Given the description of an element on the screen output the (x, y) to click on. 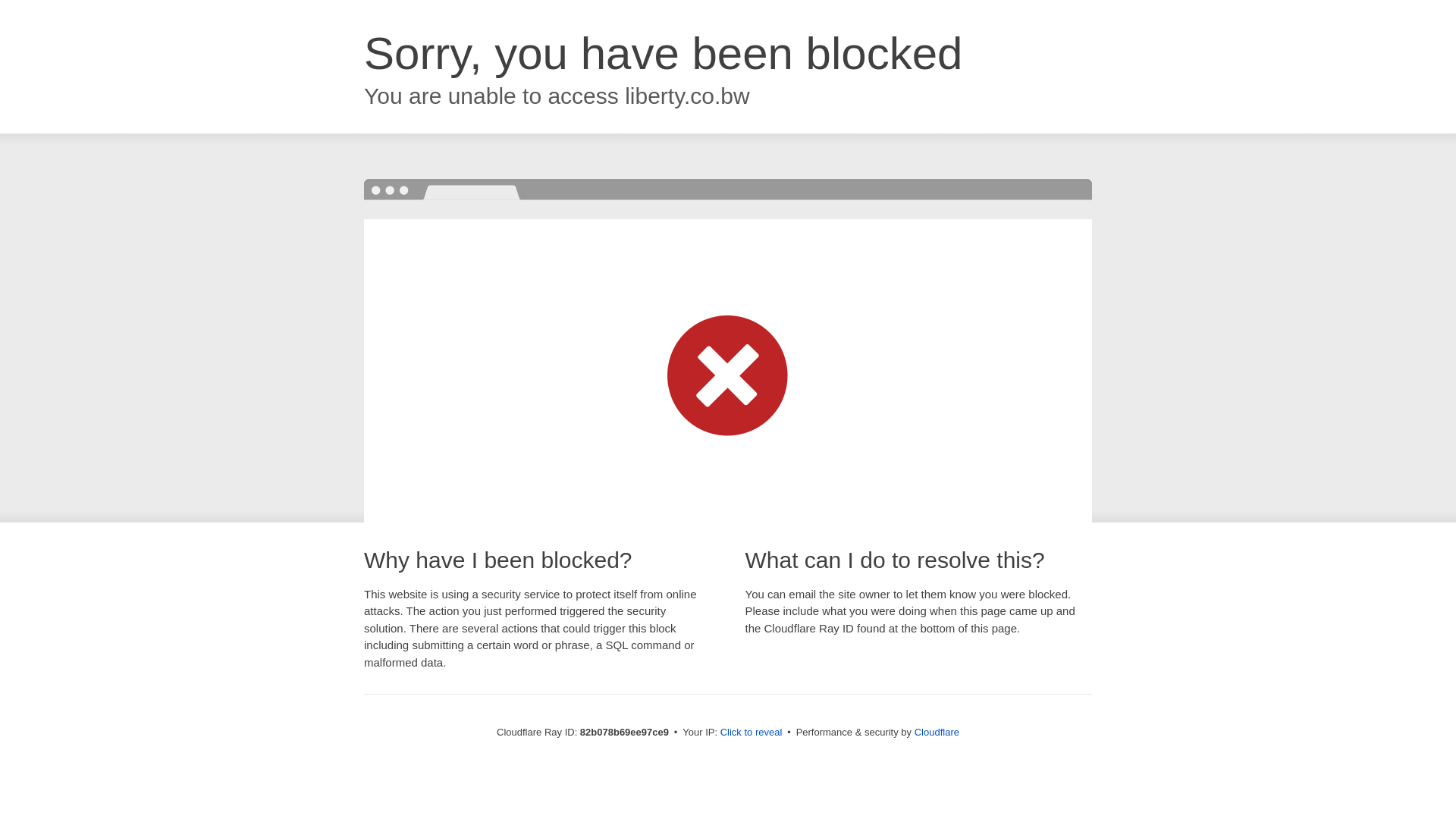
Click to reveal Element type: text (751, 732)
Cloudflare Element type: text (936, 731)
